Given the description of an element on the screen output the (x, y) to click on. 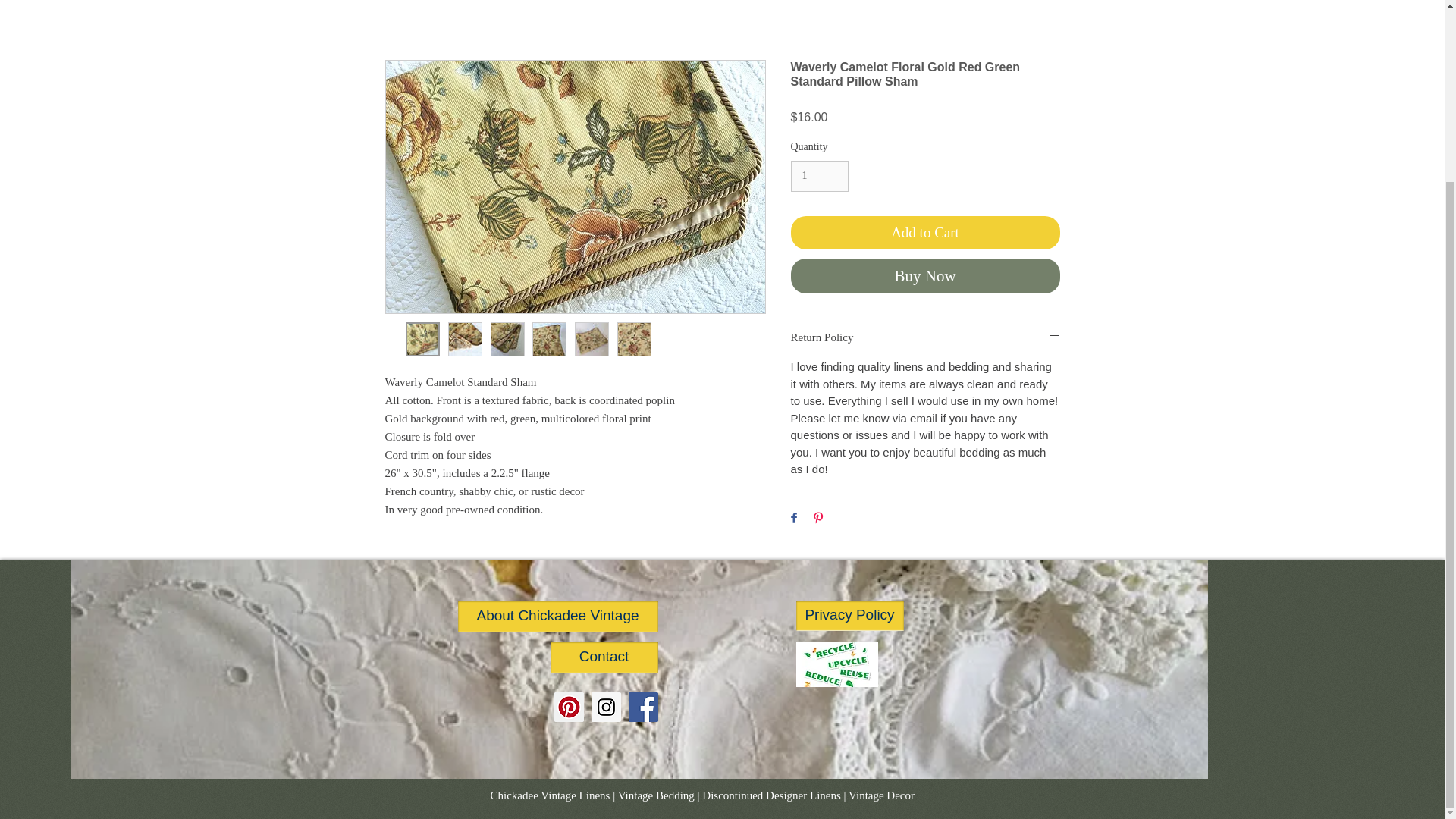
1 (818, 175)
